Given the description of an element on the screen output the (x, y) to click on. 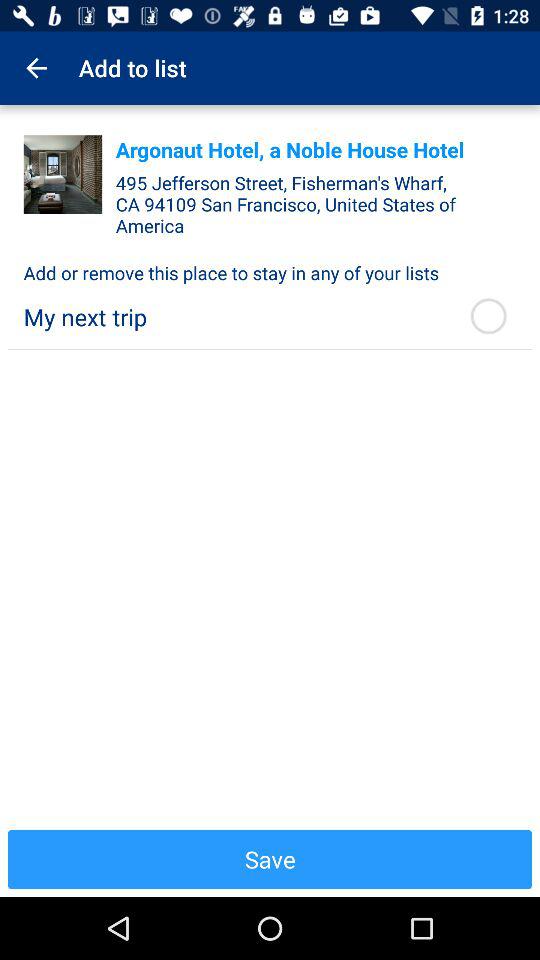
turn on the item above save (488, 316)
